Given the description of an element on the screen output the (x, y) to click on. 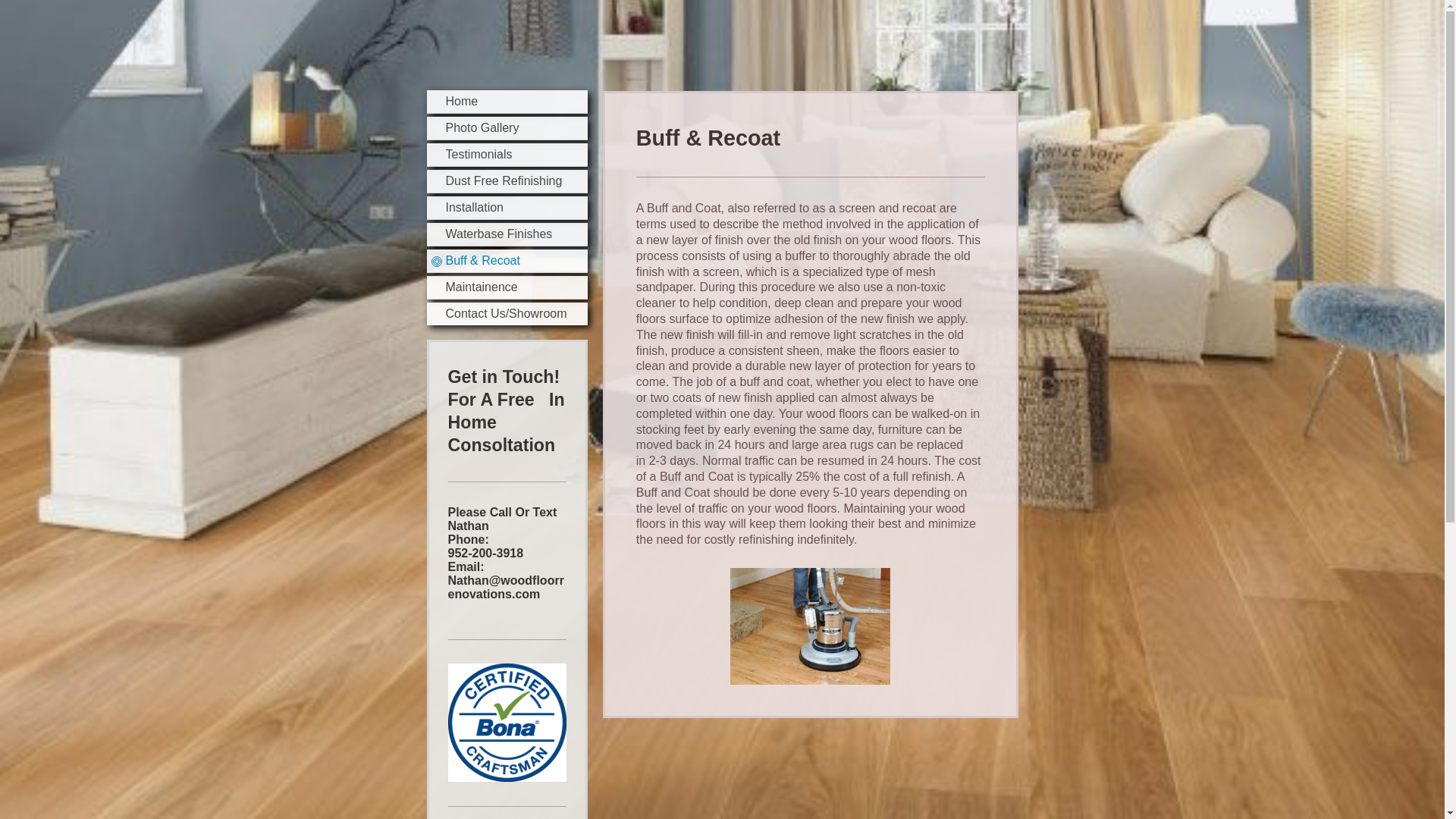
Waterbase Finishes (506, 234)
Photo Gallery (506, 128)
Maintainence (506, 287)
Installation (506, 208)
Home (506, 101)
Dust Free Refinishing (506, 181)
Testimonials (506, 155)
